Given the description of an element on the screen output the (x, y) to click on. 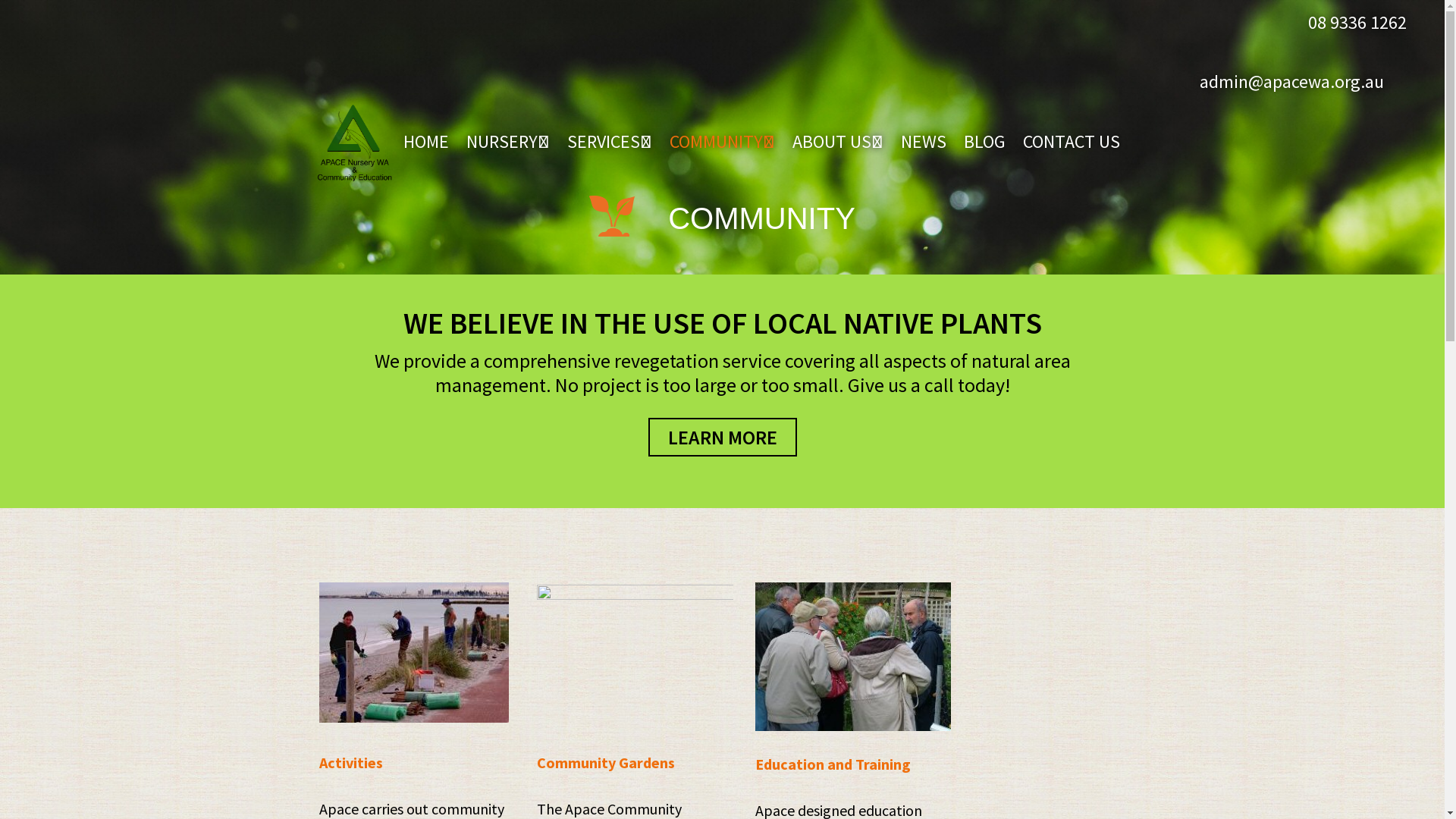
Education and Training Element type: text (832, 763)
admin@apacewa.org.au Element type: text (1291, 81)
ABOUT US Element type: text (837, 141)
NURSERY Element type: text (507, 141)
COMMUNITY Element type: text (722, 141)
HOME Element type: text (425, 141)
BLOG Element type: text (984, 141)
Skip to primary navigation Element type: text (0, 0)
Activities Element type: text (350, 762)
SERVICES Element type: text (609, 141)
08 9336 1262 Element type: text (1357, 22)
Community Gardens Element type: text (605, 762)
LEARN MORE Element type: text (721, 436)
NEWS Element type: text (923, 141)
CONTACT US Element type: text (1071, 141)
